Given the description of an element on the screen output the (x, y) to click on. 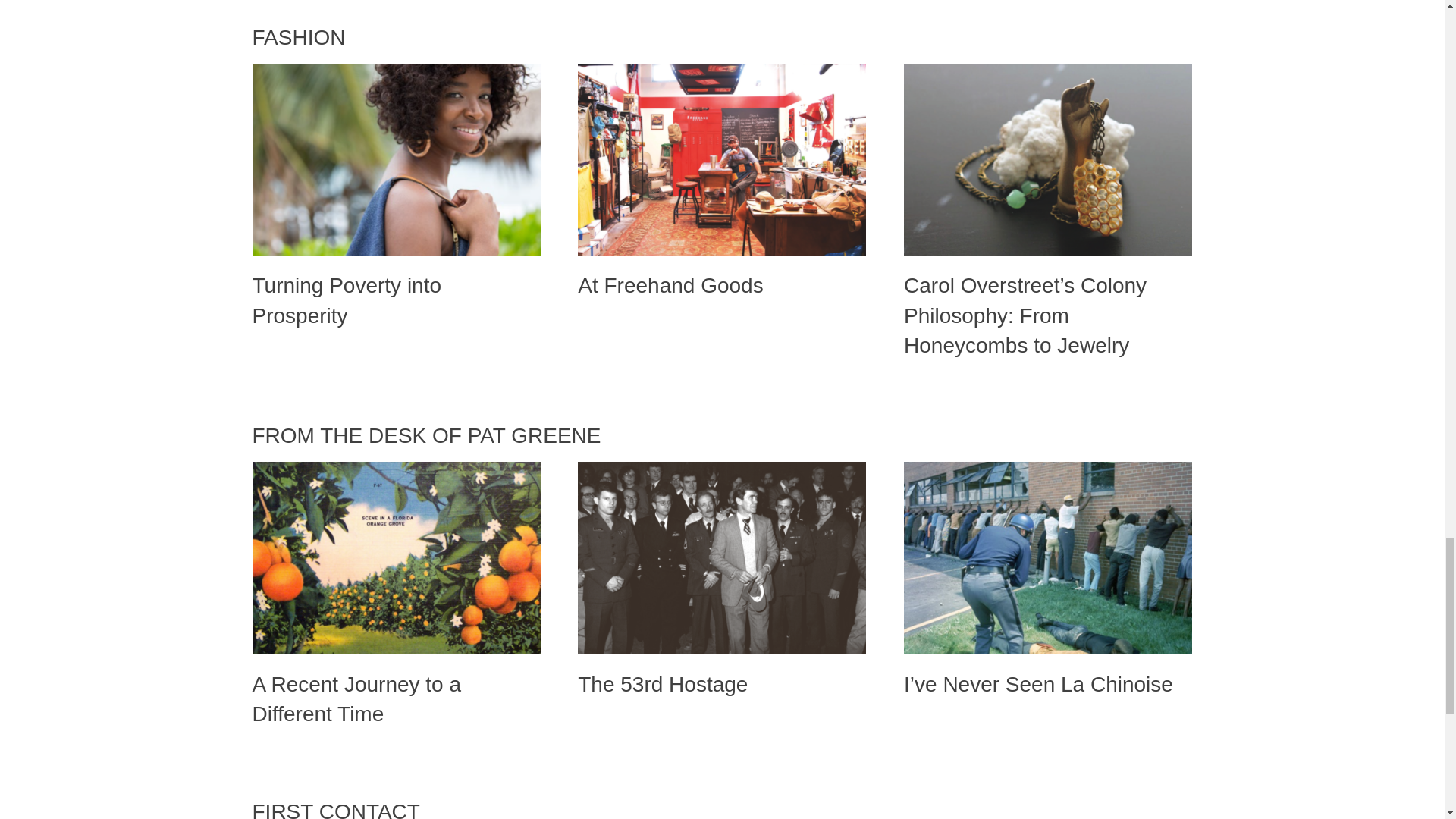
At Freehand Goods (670, 285)
At Freehand Goods (722, 159)
Turning Poverty into Prosperity (395, 159)
Turning Poverty into Prosperity (346, 299)
